Given the description of an element on the screen output the (x, y) to click on. 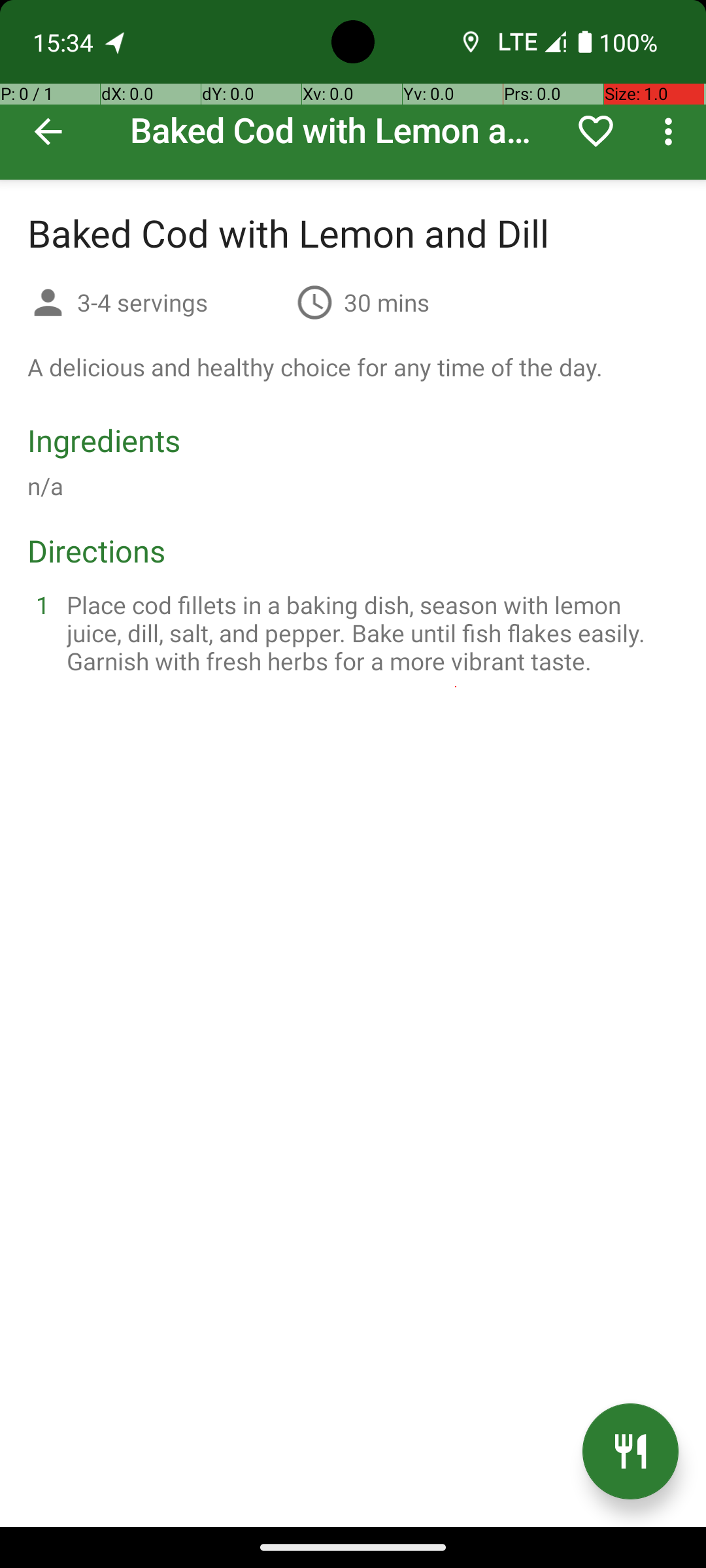
Place cod fillets in a baking dish, season with lemon juice, dill, salt, and pepper. Bake until fish flakes easily. Garnish with fresh herbs for a more vibrant taste. Element type: android.widget.TextView (368, 632)
